Given the description of an element on the screen output the (x, y) to click on. 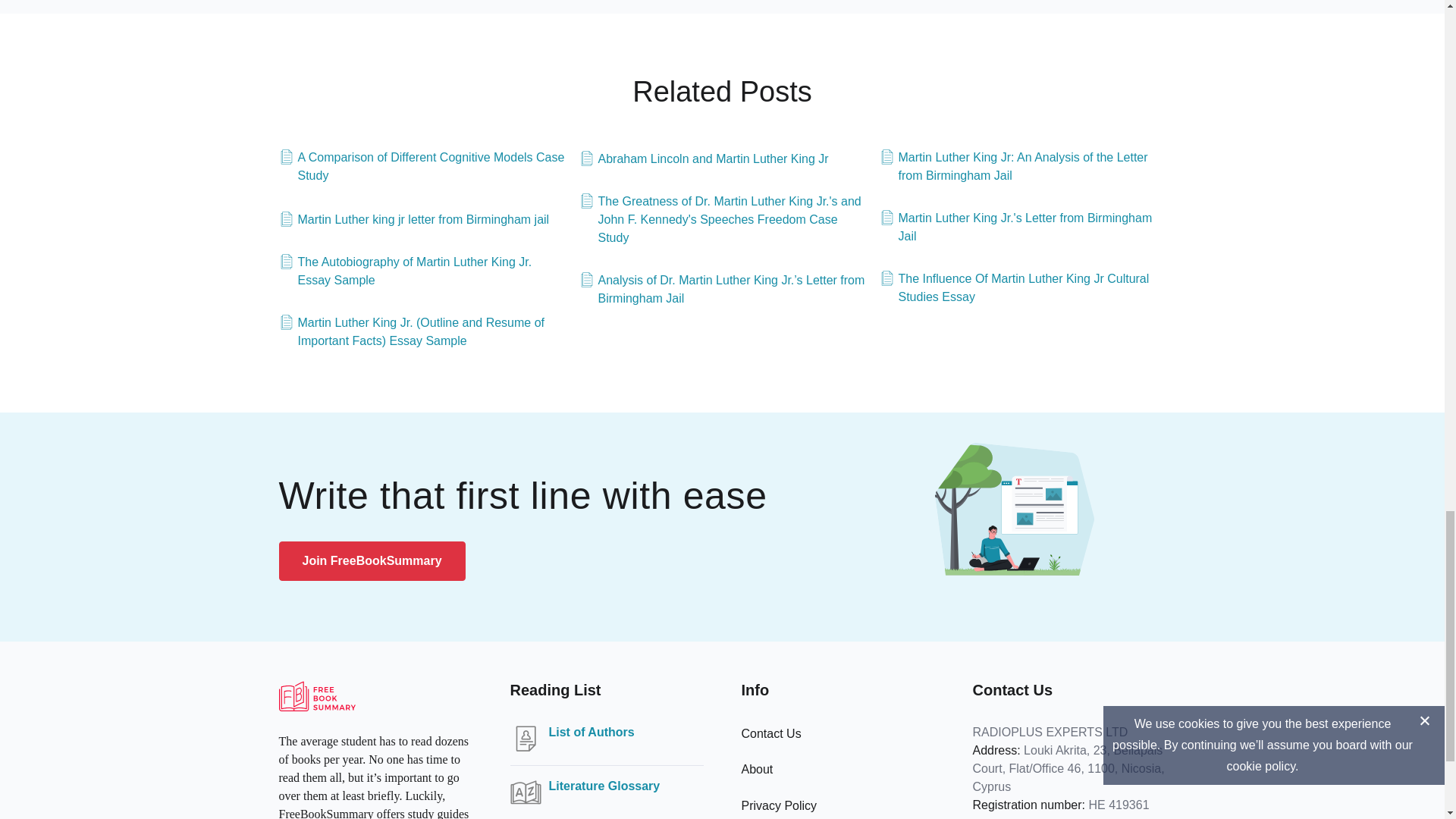
Contact Us (771, 733)
Abraham Lincoln and Martin Luther King Jr (703, 158)
Privacy Policy (778, 805)
Literature Glossary (604, 786)
The Autobiography of Martin Luther King Jr. Essay Sample (422, 271)
Martin Luther King Jr.'s Letter from Birmingham Jail (1022, 227)
About (757, 768)
List of Authors (591, 732)
A Comparison of Different Cognitive Models Case Study (422, 166)
